Given the description of an element on the screen output the (x, y) to click on. 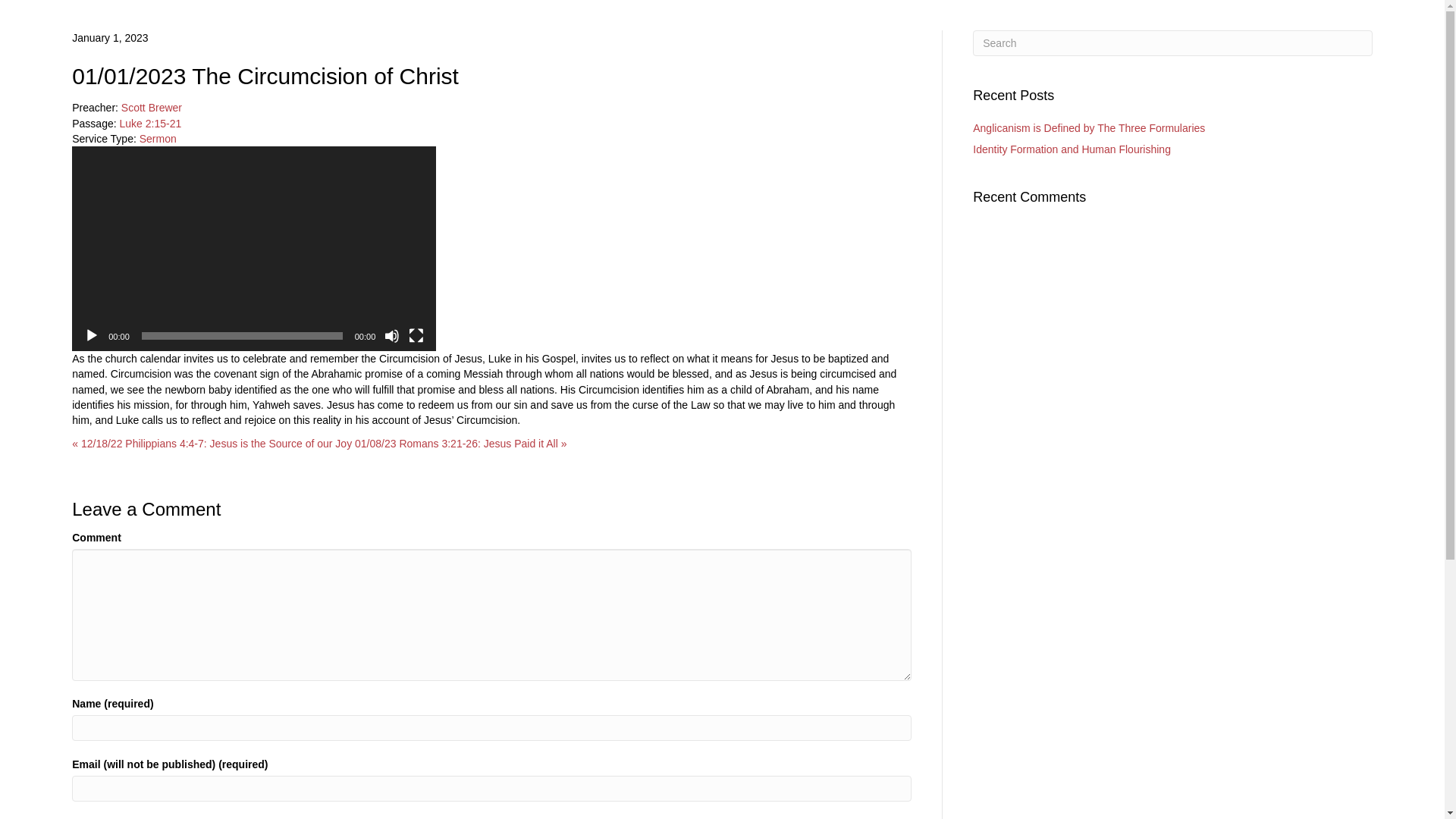
Mute (391, 335)
Sermon (157, 138)
Scott Brewer (151, 107)
Luke 2:15-21 (150, 123)
Type and press Enter to search. (1171, 43)
Fullscreen (416, 335)
Identity Formation and Human Flourishing (1071, 149)
Anglicanism is Defined by The Three Formularies (1088, 128)
Play (91, 335)
